Given the description of an element on the screen output the (x, y) to click on. 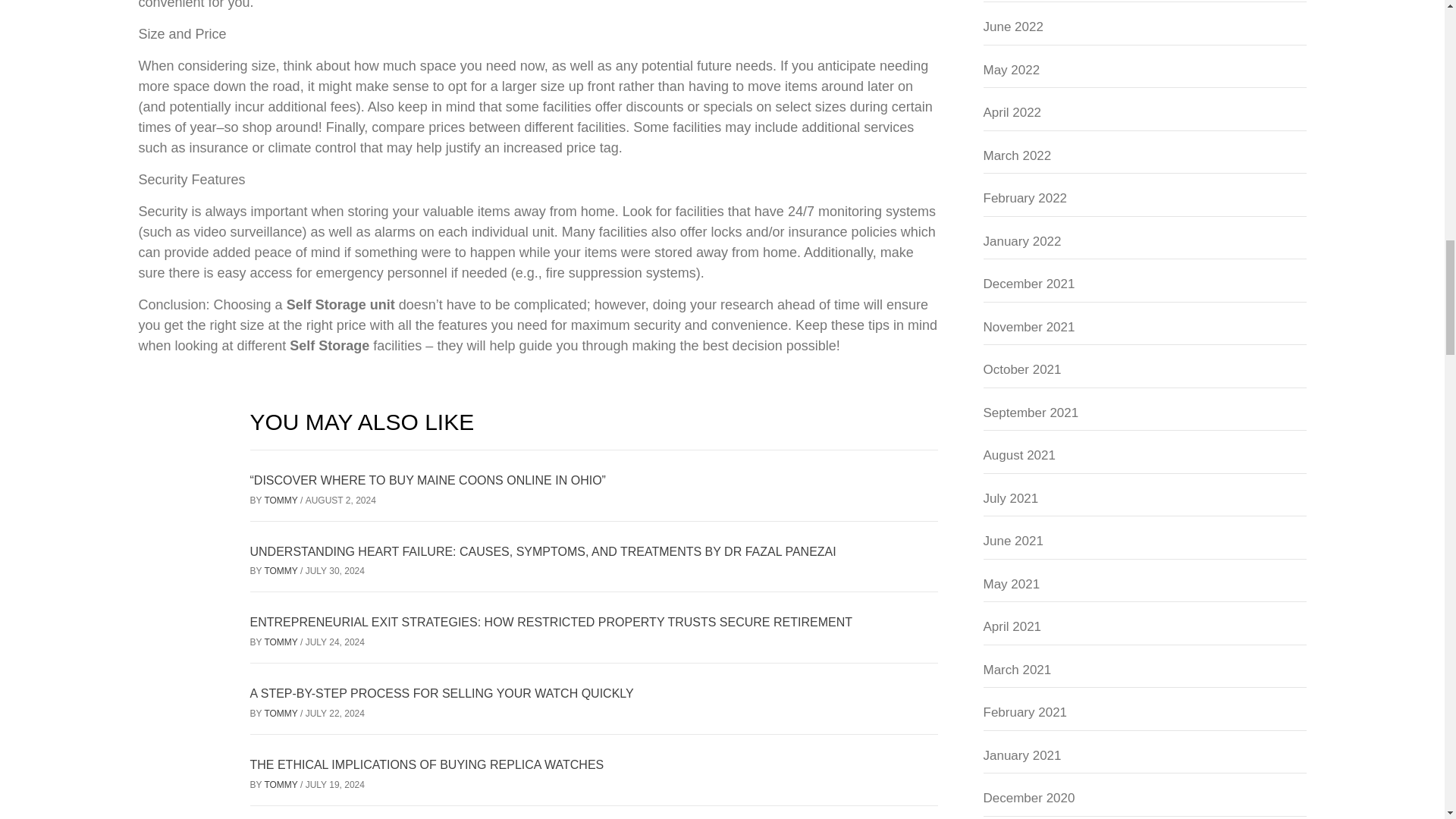
TOMMY (281, 784)
TOMMY (281, 570)
THE ETHICAL IMPLICATIONS OF BUYING REPLICA WATCHES (427, 764)
TOMMY (281, 713)
A STEP-BY-STEP PROCESS FOR SELLING YOUR WATCH QUICKLY (441, 693)
TOMMY (281, 642)
TOMMY (281, 500)
